Given the description of an element on the screen output the (x, y) to click on. 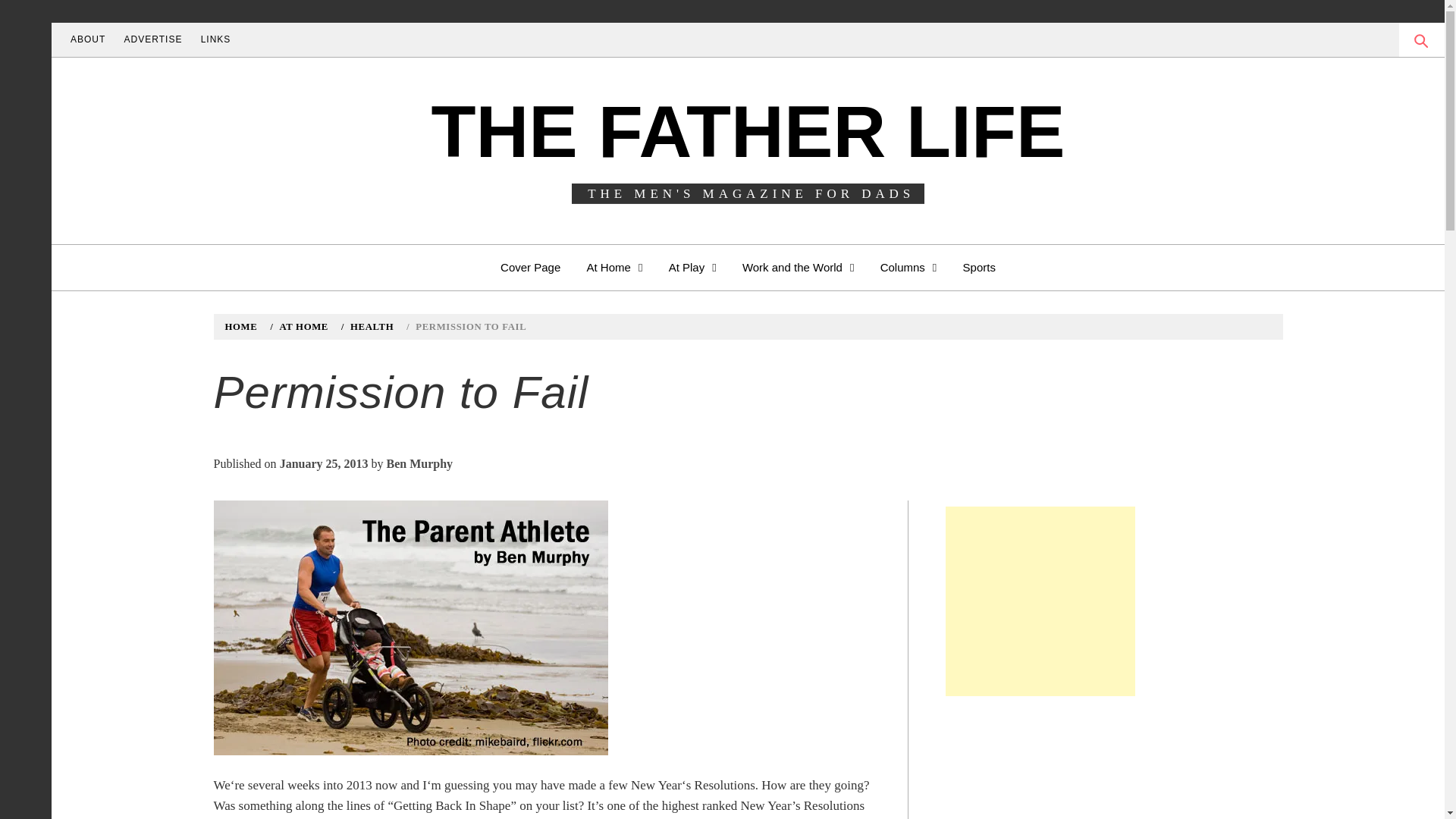
Columns (909, 267)
At Home (614, 267)
THE FATHER LIFE (747, 130)
January 25, 2013 (323, 463)
Sports (979, 267)
Work and the World (798, 267)
HEALTH (369, 326)
ADVERTISE (153, 39)
Cover Page (530, 267)
HOME (243, 326)
Advertisement (1039, 601)
LINKS (215, 39)
At Play (693, 267)
ABOUT (87, 39)
